Given the description of an element on the screen output the (x, y) to click on. 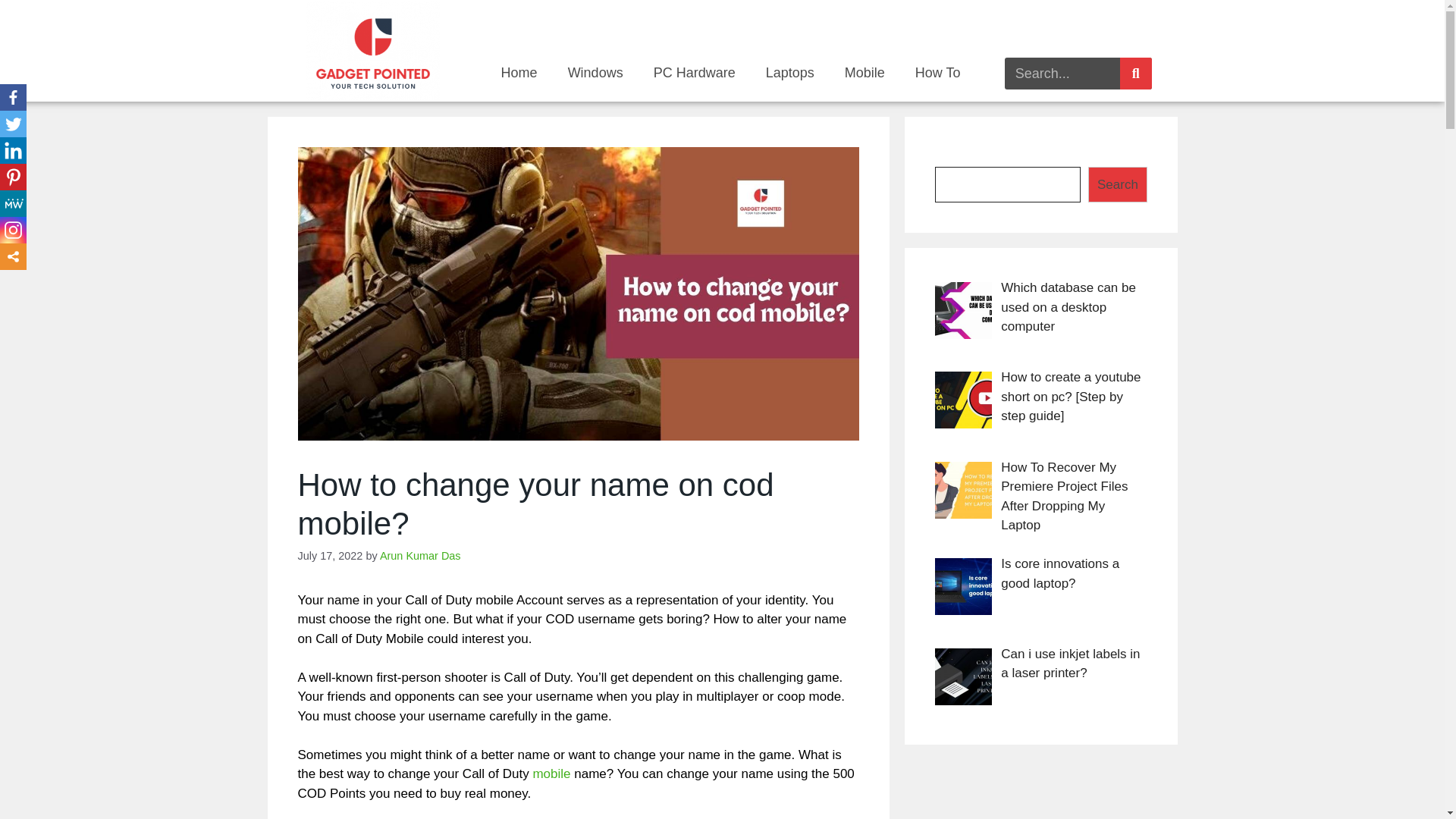
Mobile (864, 72)
Search (1061, 73)
mobile (551, 773)
Windows (596, 72)
How To (937, 72)
Laptops (790, 72)
PC Hardware (695, 72)
Arun Kumar Das (420, 555)
View all posts by Arun Kumar Das (420, 555)
Search (1135, 73)
